Given the description of an element on the screen output the (x, y) to click on. 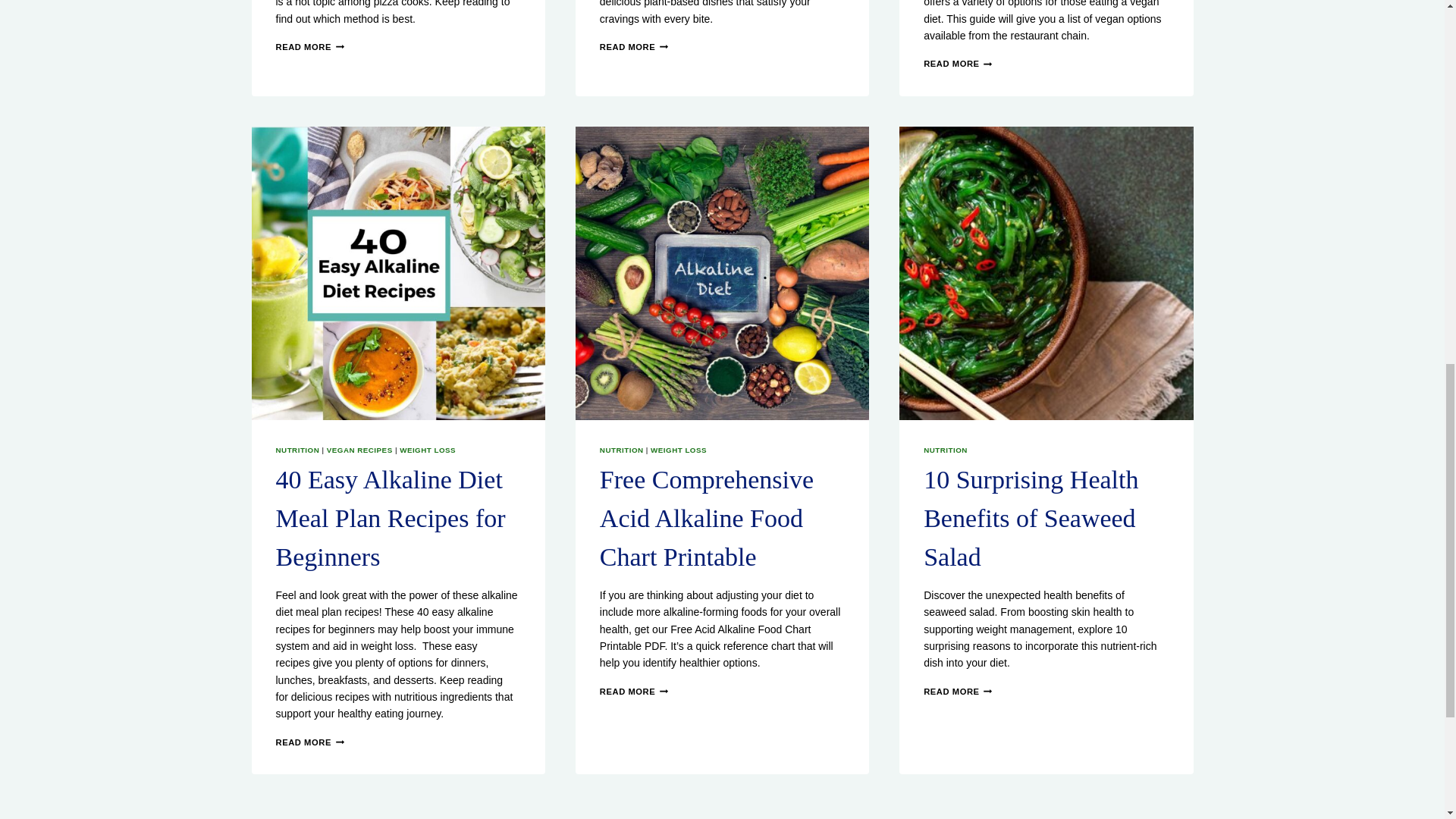
NUTRITION (298, 449)
40 Easy Alkaline Diet Meal Plan Recipes for Beginners (390, 518)
VEGAN RECIPES (359, 449)
WEIGHT LOSS (426, 449)
